Given the description of an element on the screen output the (x, y) to click on. 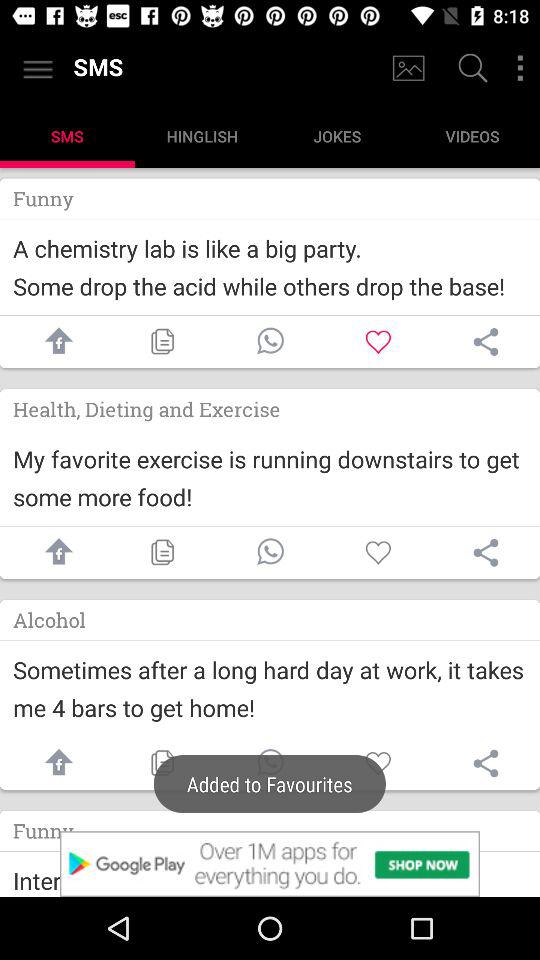
add favorite (378, 341)
